Given the description of an element on the screen output the (x, y) to click on. 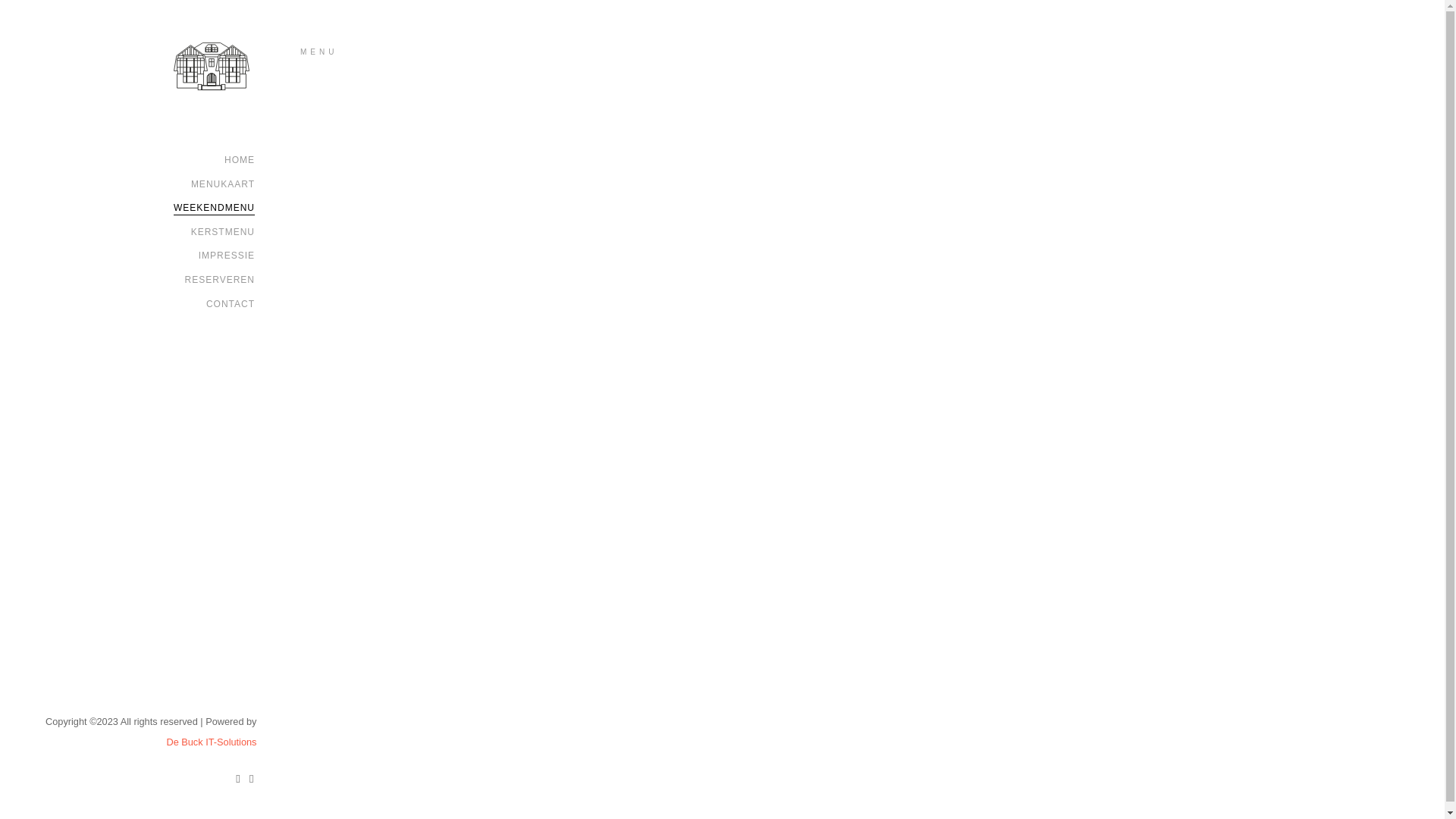
WEEKENDMENU Element type: text (213, 207)
De Buck IT-Solutions Element type: text (211, 740)
IMPRESSIE Element type: text (226, 255)
MENUKAART Element type: text (222, 184)
HOME Element type: text (239, 159)
RESERVEREN Element type: text (219, 279)
KERSTMENU Element type: text (222, 231)
CONTACT Element type: text (230, 303)
